Given the description of an element on the screen output the (x, y) to click on. 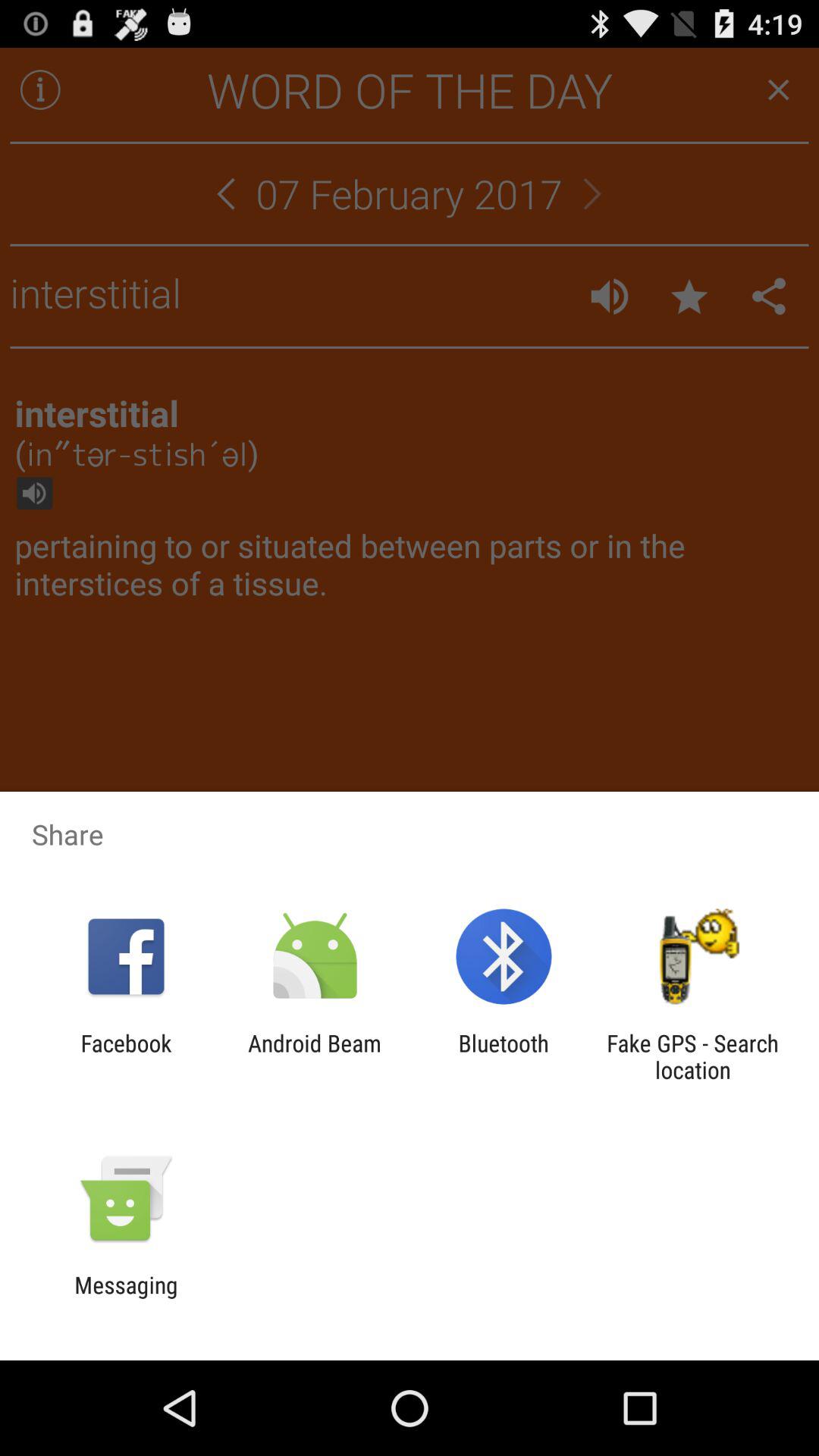
press the bluetooth icon (503, 1056)
